Given the description of an element on the screen output the (x, y) to click on. 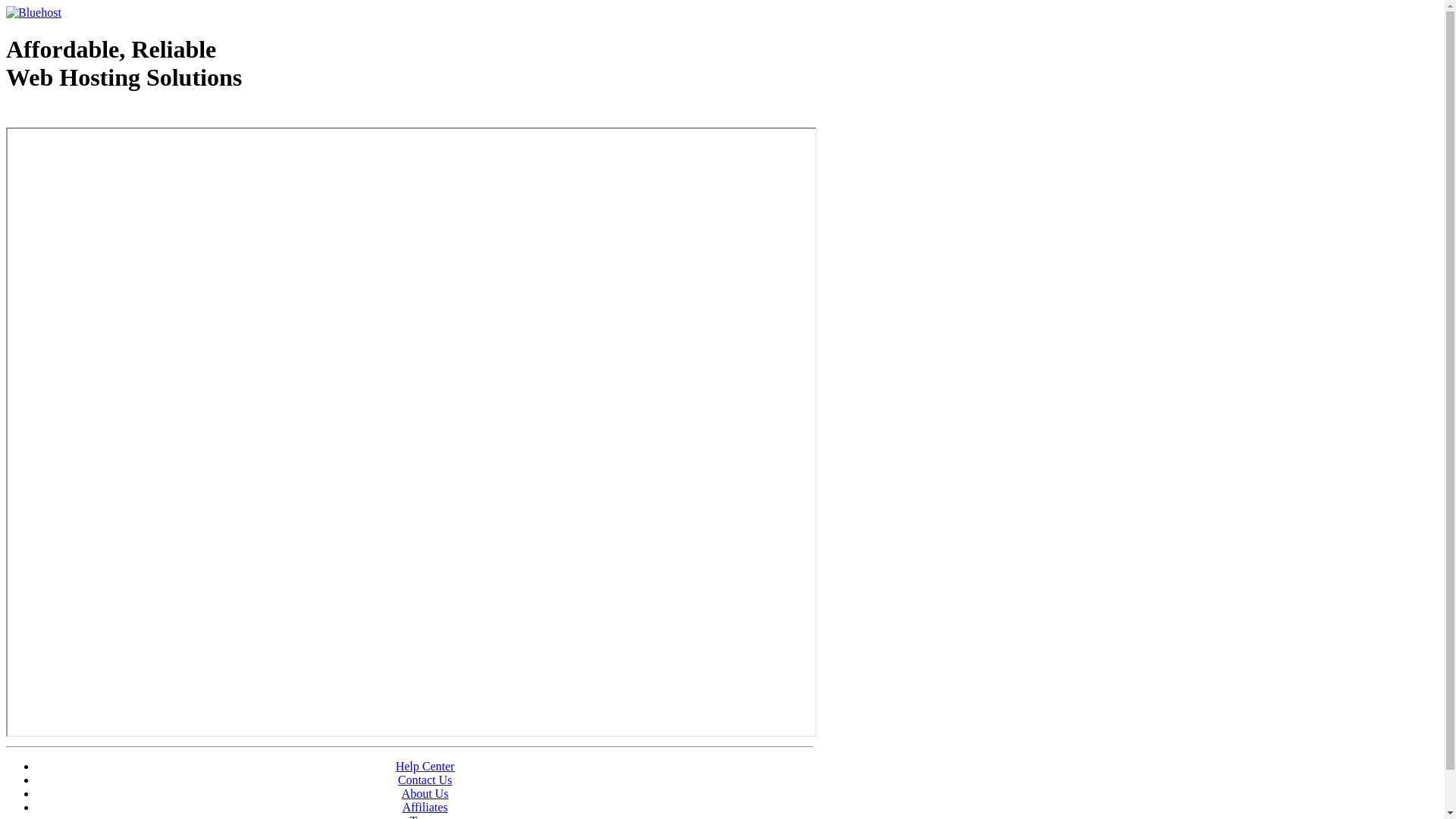
Contact Us Element type: text (425, 779)
Help Center Element type: text (425, 765)
About Us Element type: text (424, 793)
Affiliates Element type: text (424, 806)
Web Hosting - courtesy of www.bluehost.com Element type: text (94, 115)
